Given the description of an element on the screen output the (x, y) to click on. 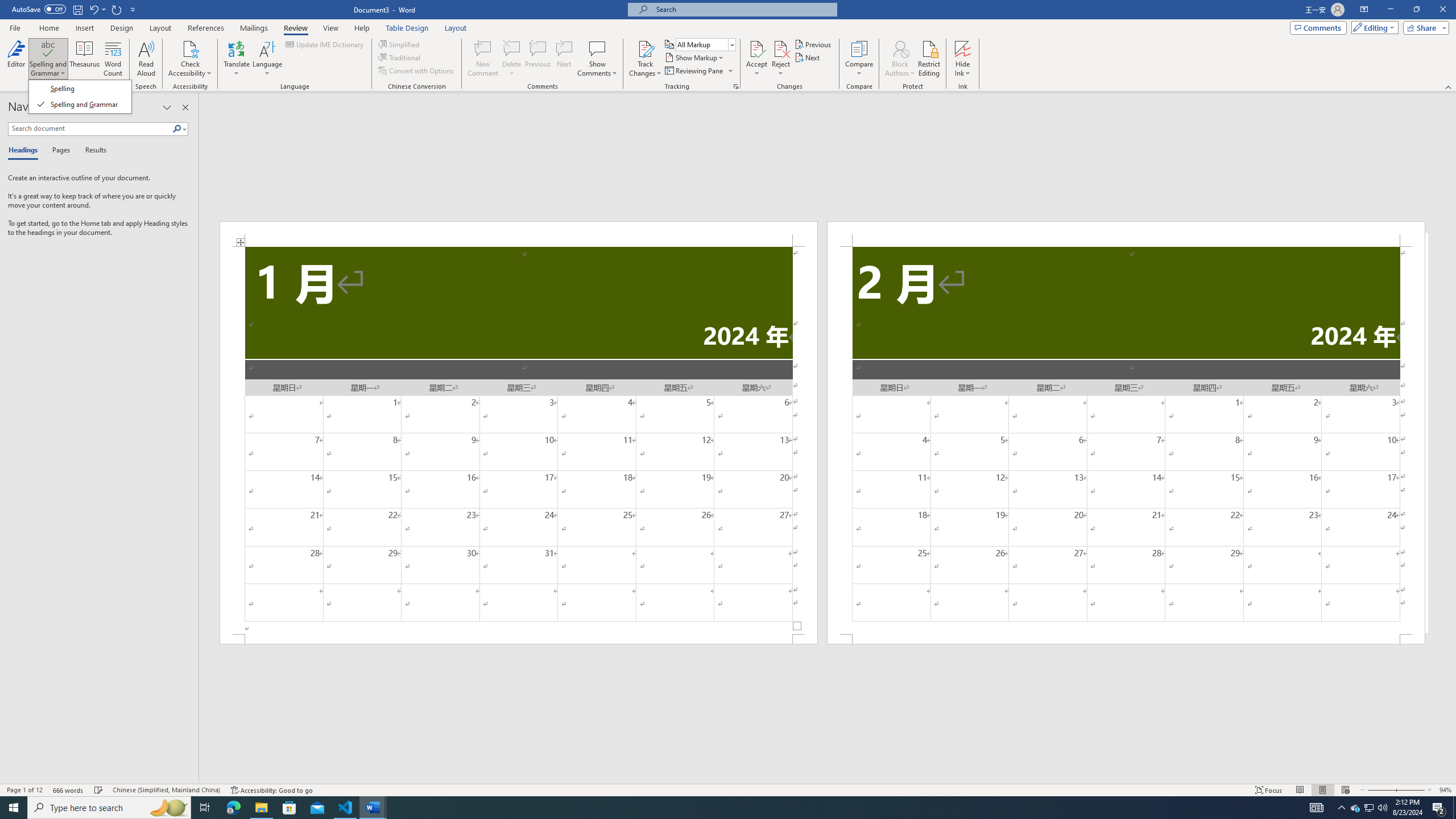
Delete (511, 48)
Previous (813, 44)
Accept (756, 58)
